Given the description of an element on the screen output the (x, y) to click on. 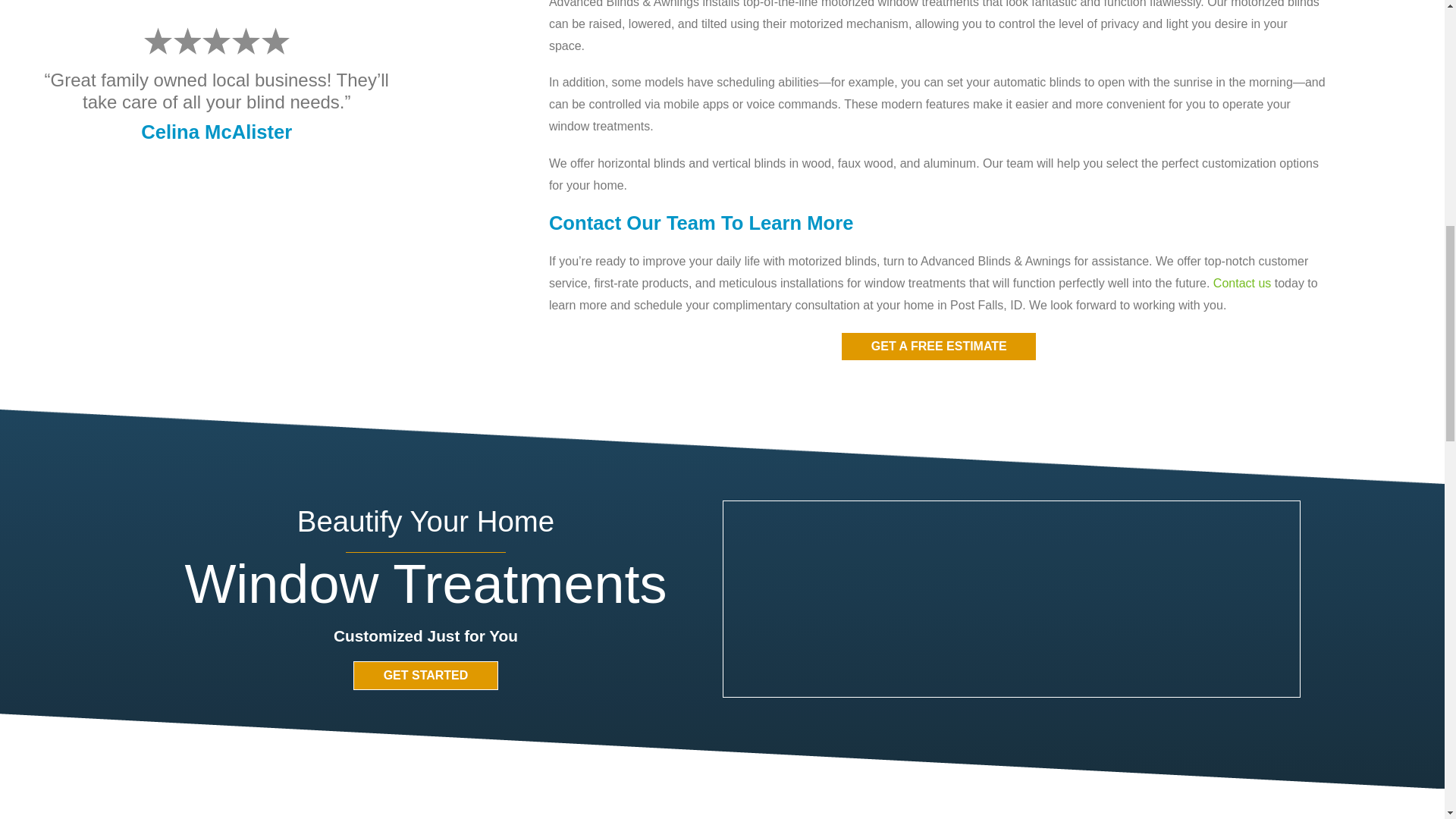
Contact us (1241, 282)
GET STARTED (425, 675)
GET A FREE ESTIMATE (938, 346)
